Given the description of an element on the screen output the (x, y) to click on. 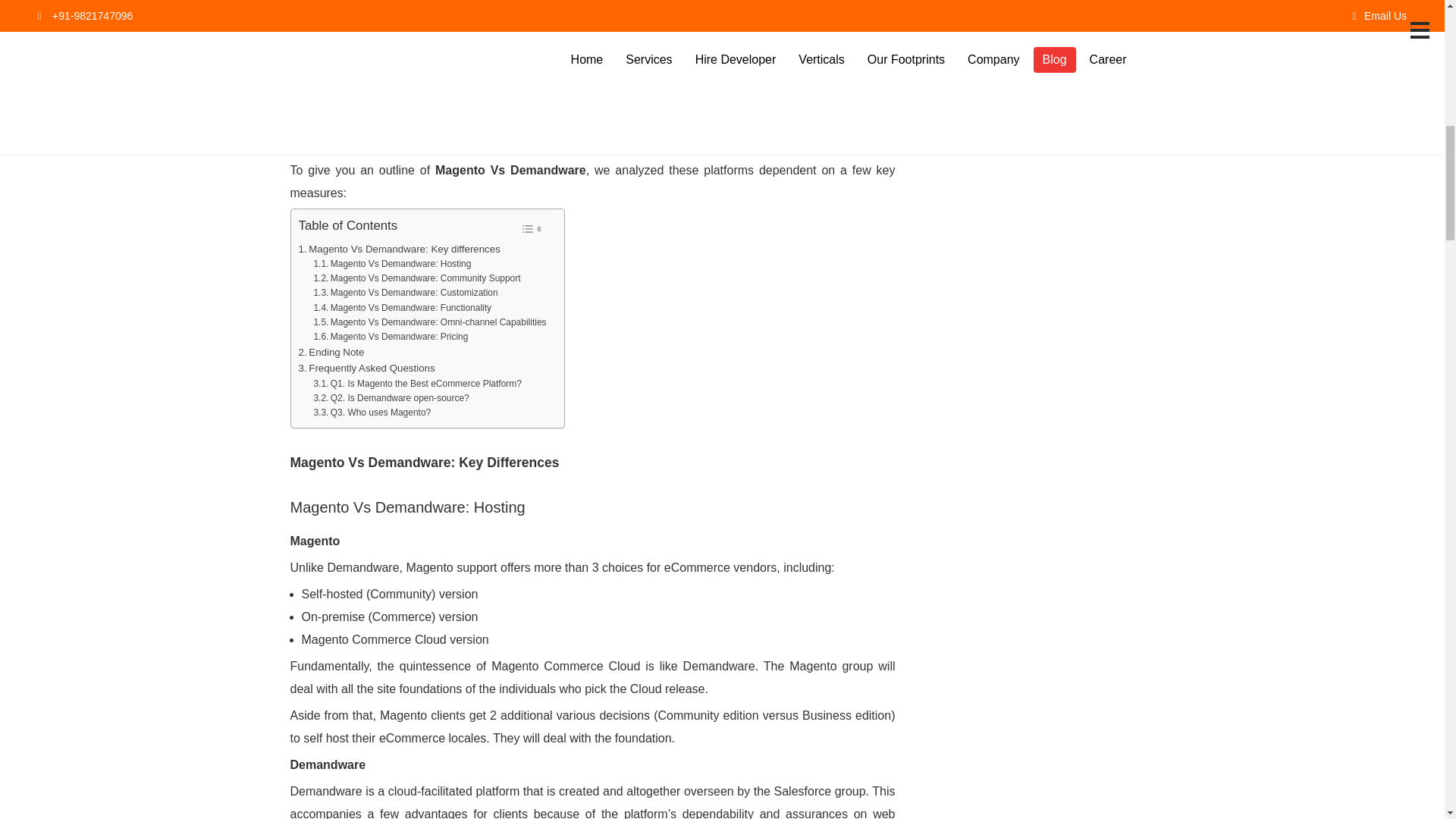
Magento Vs Demandware: Pricing (390, 336)
Magento Vs Demandware: Community Support (416, 278)
Q1. Is Magento the Best eCommerce Platform? (417, 383)
Magento Vs Demandware: Key differences (399, 248)
Magento Vs Demandware: Customization (405, 292)
Frequently Asked Questions (366, 367)
Ending Note (331, 351)
Q3. Who uses Magento? (371, 412)
